Given the description of an element on the screen output the (x, y) to click on. 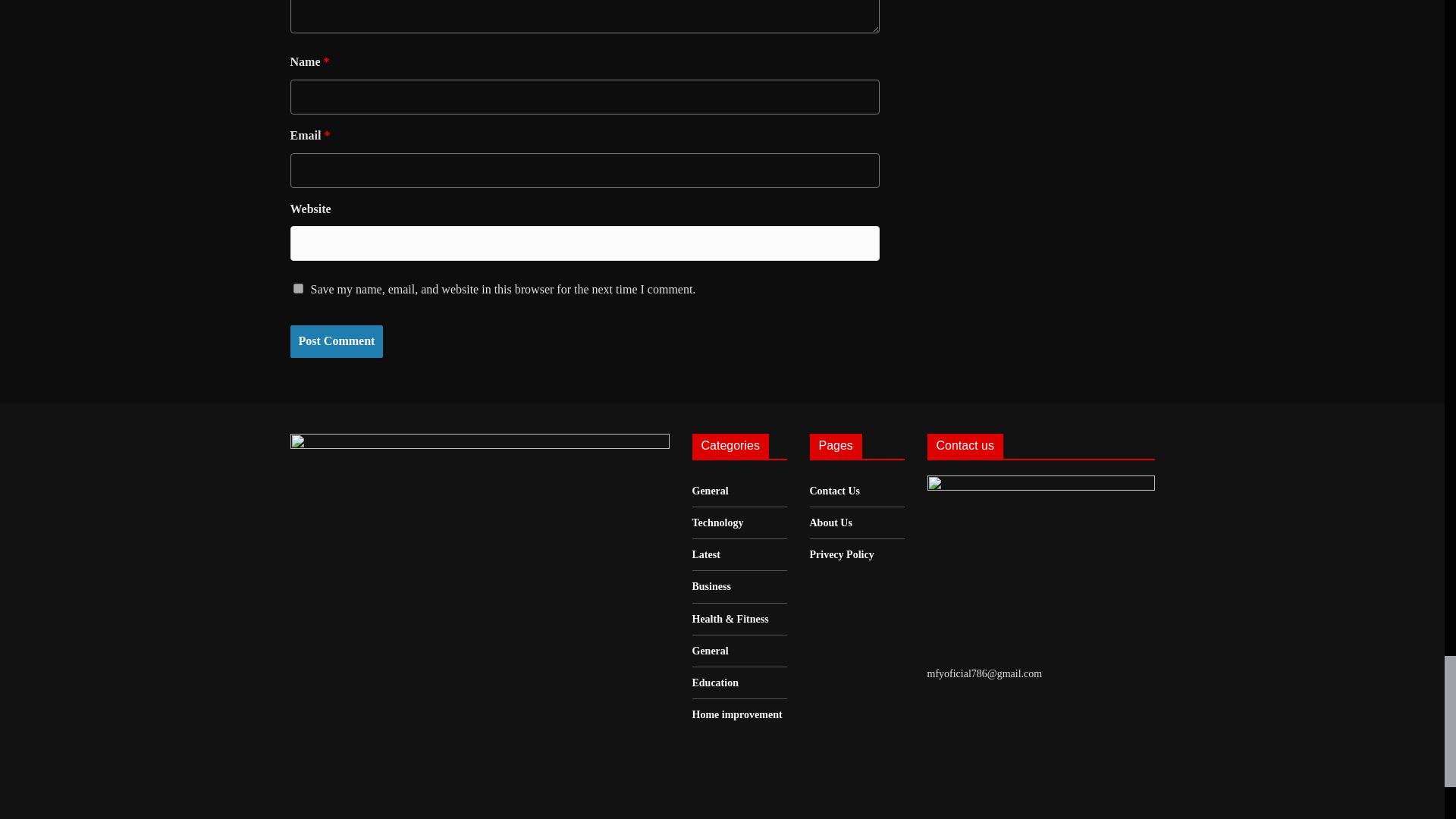
Post Comment (335, 341)
yes (297, 288)
